Given the description of an element on the screen output the (x, y) to click on. 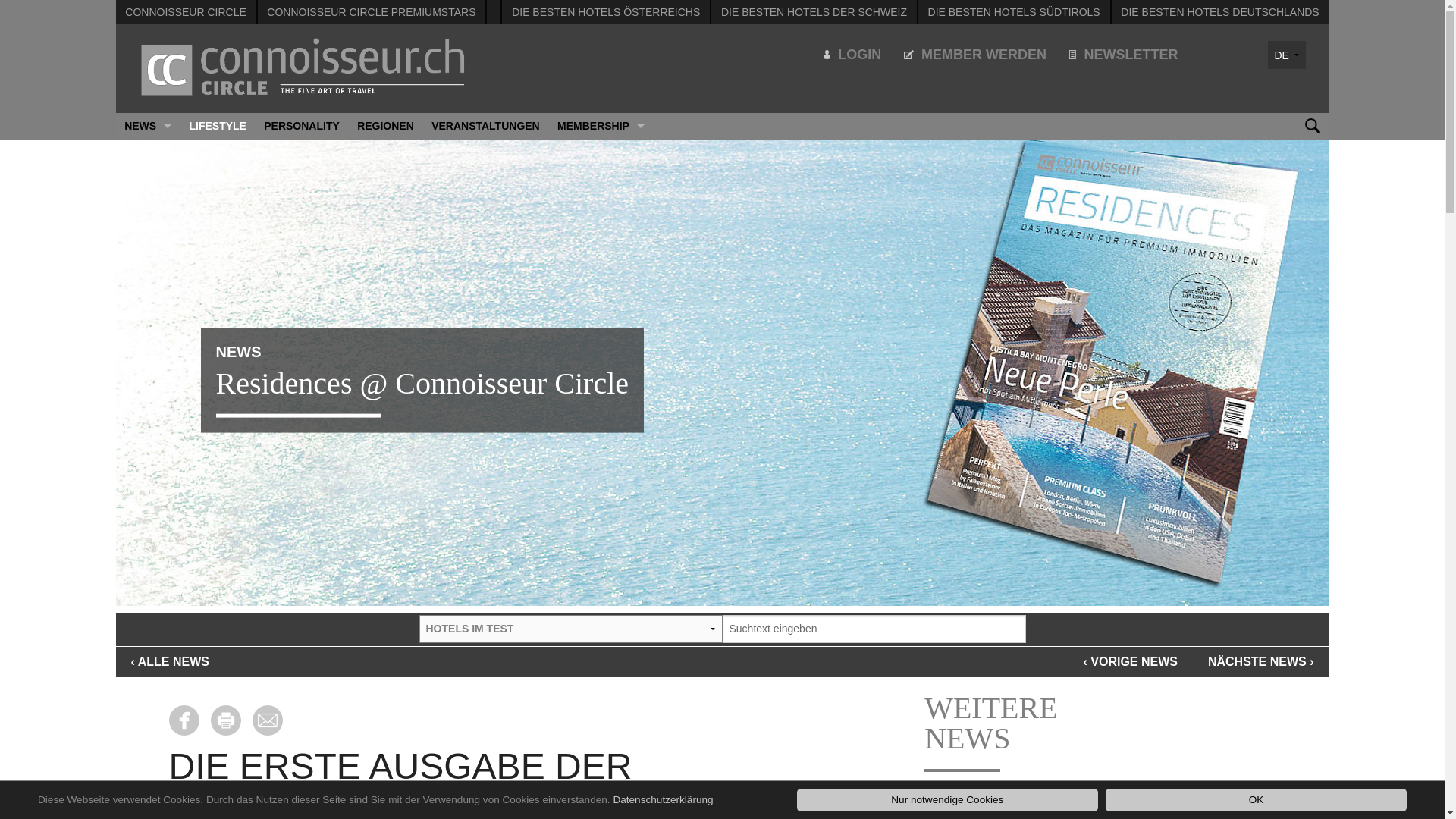
CONNOISSEUR CIRCLE PREMIUMSTARS Element type: text (370, 12)
AIR, ROAD & SEA Element type: text (147, 179)
PERSONALITY Element type: text (301, 125)
LOGIN Element type: text (600, 205)
LIFESTYLE Element type: text (217, 125)
NEWS HOTELS Element type: text (147, 152)
MEMBER VORTEILE Element type: text (600, 152)
OK Element type: text (1255, 799)
MEMBERSHIP Element type: text (600, 125)
VERANSTALTUNGEN Element type: text (485, 125)
MEMBER WERDEN Element type: text (974, 54)
DIE BESTEN HOTELS DER SCHWEIZ Element type: text (813, 12)
LOGIN Element type: text (852, 54)
CONNOISSEUR CIRCLE Element type: text (185, 12)
NEWSLETTER Element type: text (1123, 54)
REGIONEN Element type: text (385, 125)
NEWS
Residences @ Connoisseur Circle Element type: text (721, 358)
Nur notwendige Cookies Element type: text (947, 799)
NEWS Element type: text (147, 125)
DIE BESTEN HOTELS DEUTSCHLANDS Element type: text (1219, 12)
